Given the description of an element on the screen output the (x, y) to click on. 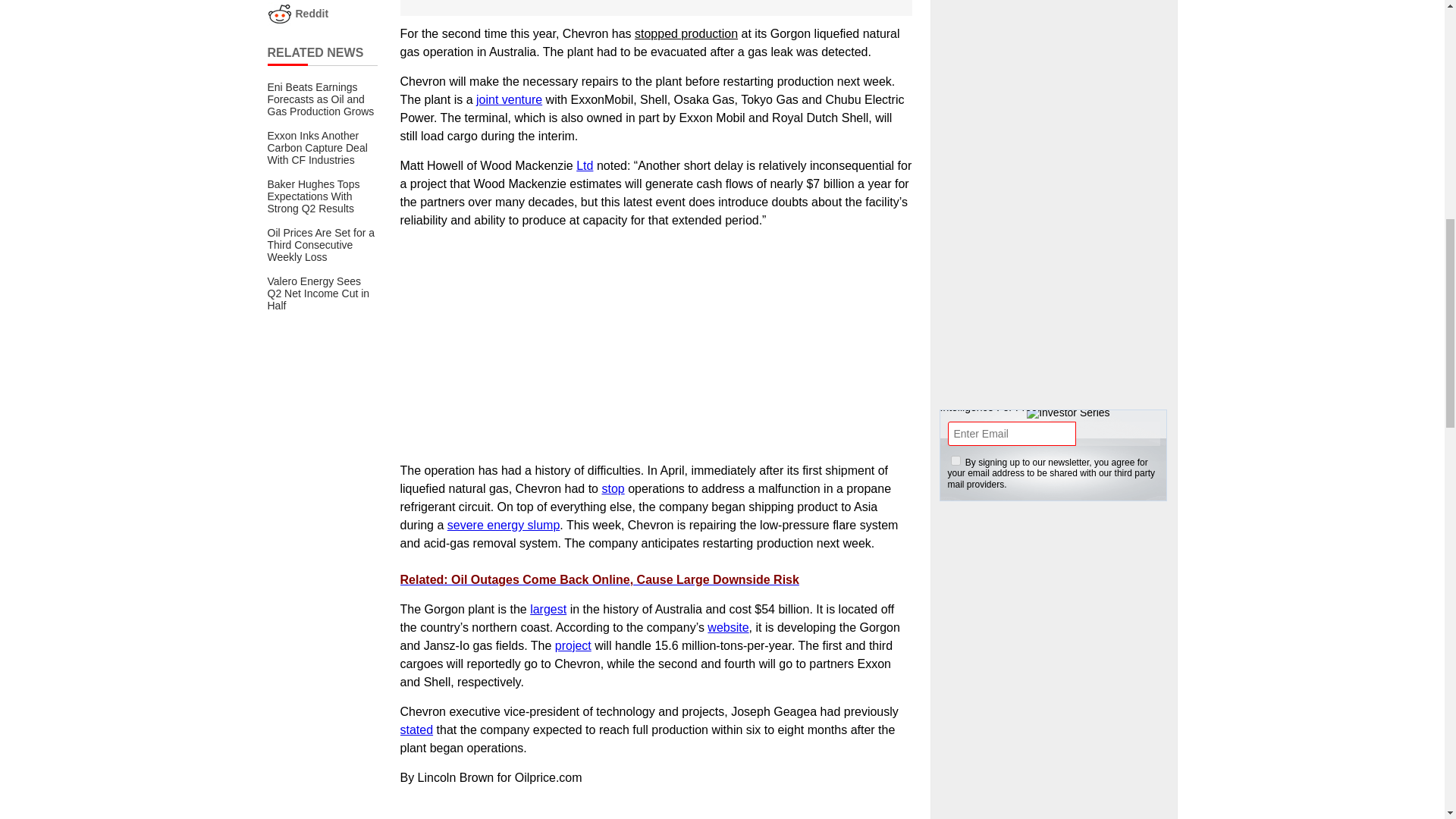
1 (955, 460)
